Given the description of an element on the screen output the (x, y) to click on. 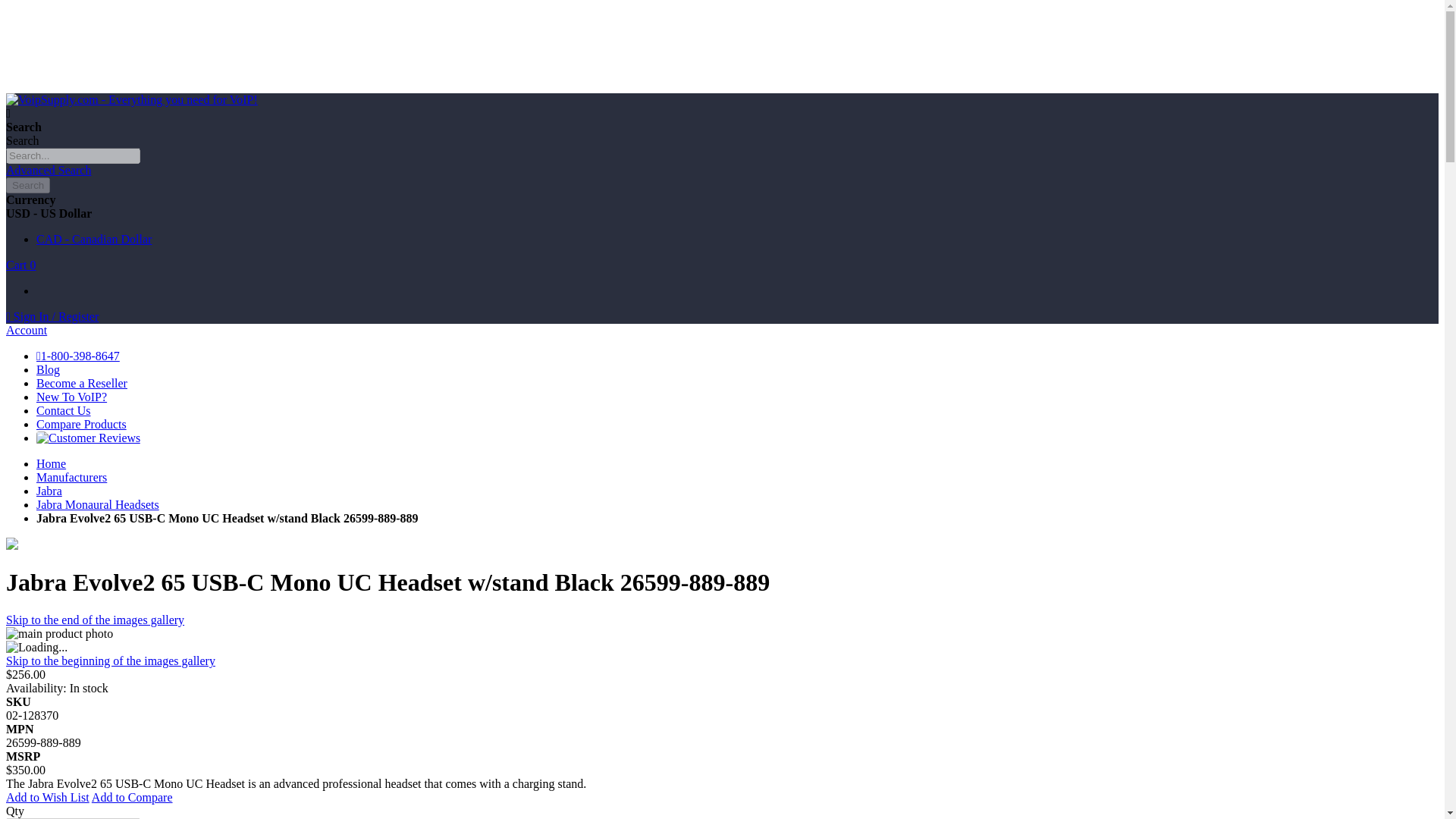
VoipSupply.com - Everything you need for VoIP! (131, 99)
Cart 0 (20, 264)
Jabra Monaural Headsets (97, 504)
My Account (52, 316)
Manufacturers (71, 477)
Compare Products (81, 423)
Add to Wish List (46, 797)
Jabra (49, 490)
Go to Home Page (50, 463)
Skip to the beginning of the images gallery (110, 660)
Search (27, 185)
Skip to the end of the images gallery (94, 619)
Advanced Search (47, 169)
Become a Reseller (82, 382)
Search (27, 185)
